Given the description of an element on the screen output the (x, y) to click on. 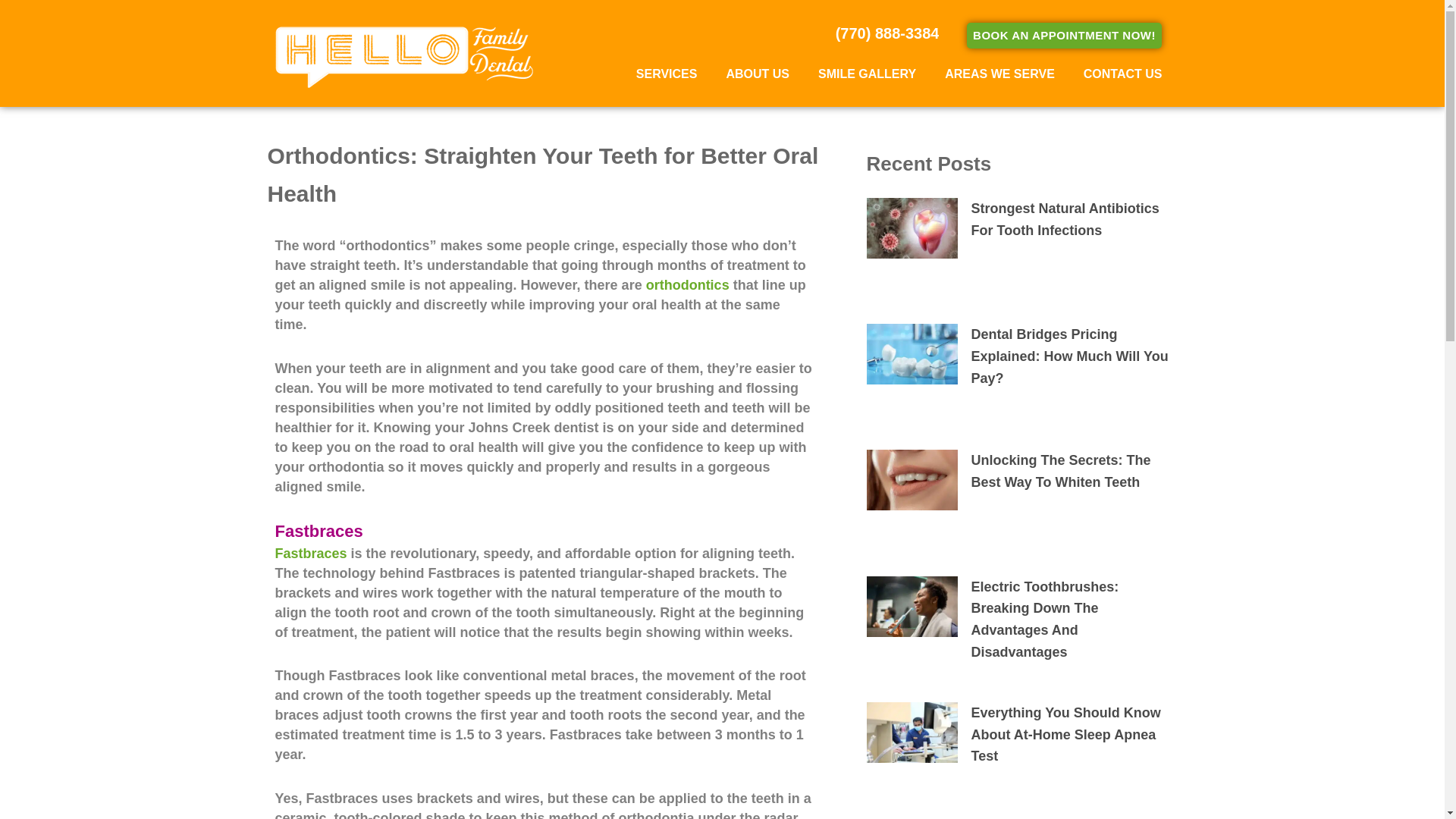
BOOK AN APPOINTMENT NOW! (1063, 35)
SERVICES (666, 73)
